Given the description of an element on the screen output the (x, y) to click on. 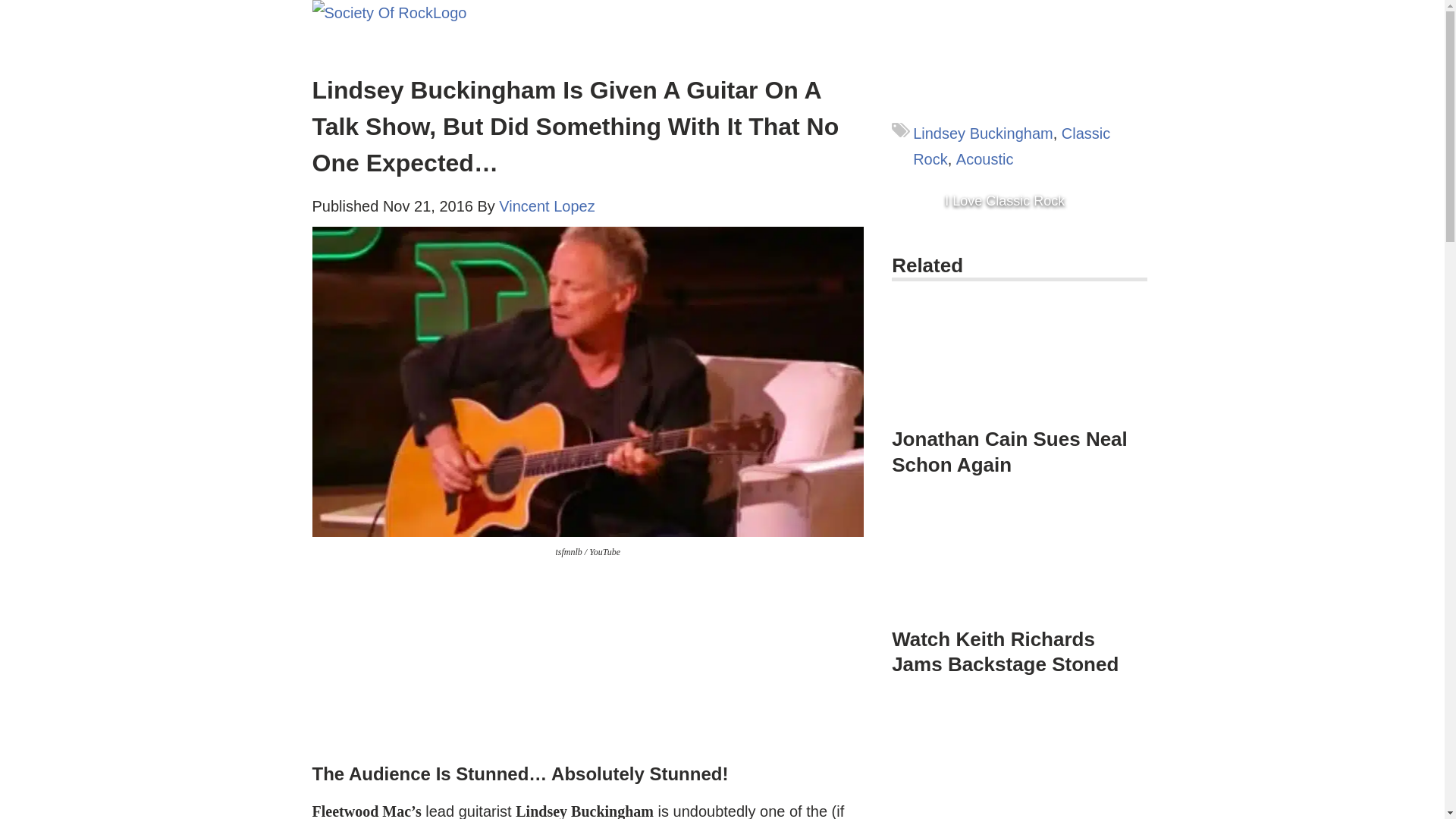
CONTACT (742, 15)
Jonathan Cain Sues Neal Schon Again (1019, 381)
The Things Tom Petty Absolutely Hates (1019, 758)
Search (15, 6)
Jonathan Cain Sues Neal Schon Again (1019, 359)
GENRES (633, 15)
Watch Keith Richards Jams Backstage Stoned (1019, 559)
Watch Keith Richards Jams Backstage Stoned (1019, 569)
Watch Keith Richards Jams Backstage Stoned (1004, 652)
Jonathan Cain Sues Neal Schon Again (1008, 451)
ARTISTS (531, 15)
The Things Tom Petty Absolutely Hates (1019, 758)
ABOUT (577, 45)
I Love Classic Rock (1004, 201)
